Given the description of an element on the screen output the (x, y) to click on. 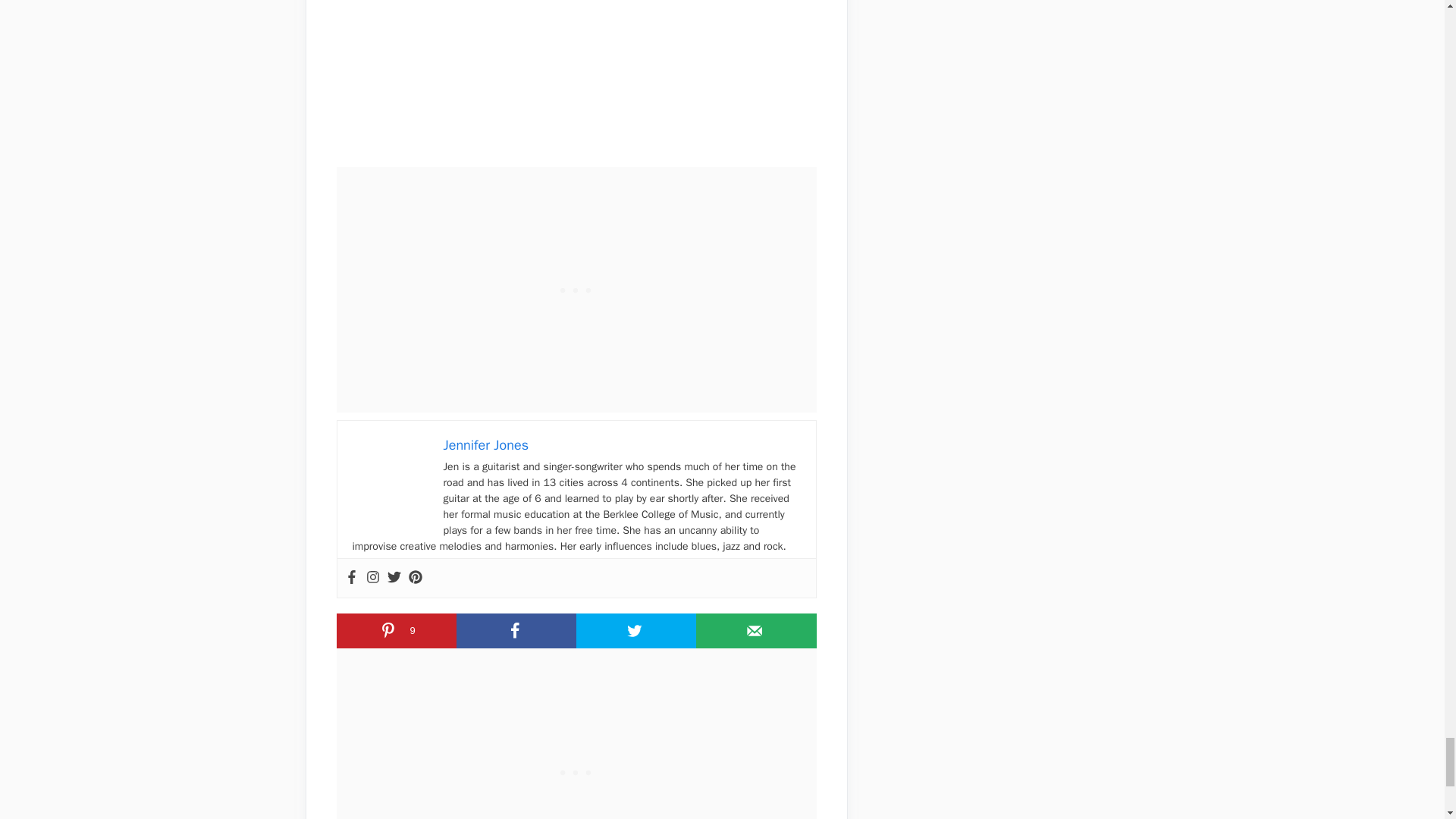
Save to Pinterest (396, 630)
How to Choose Guitar String Gauges 1 (390, 473)
Share on Twitter (635, 630)
Jennifer Jones (485, 444)
guitar string gauge (576, 70)
Send over email (755, 630)
Share on Facebook (516, 630)
